Given the description of an element on the screen output the (x, y) to click on. 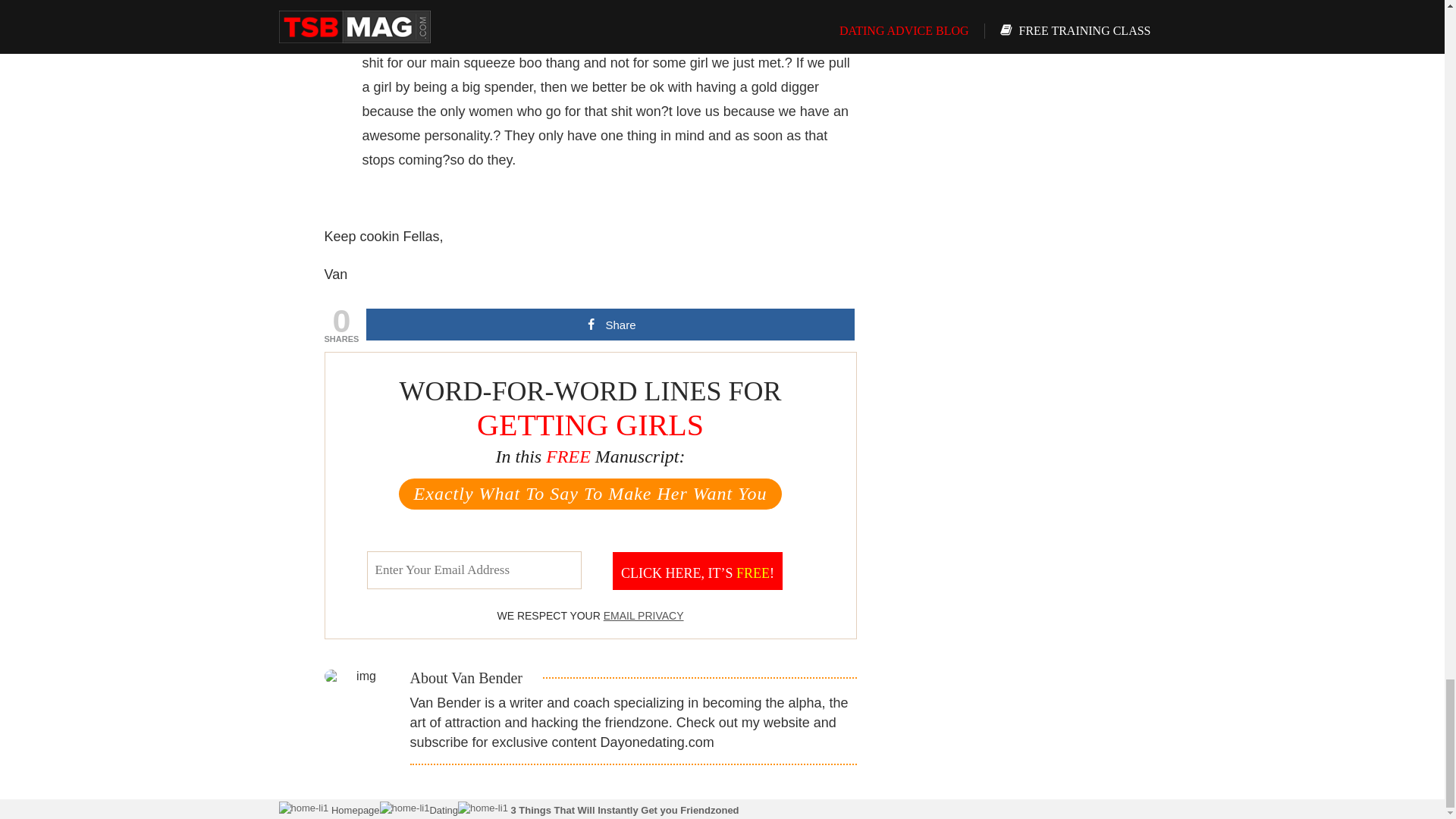
3 Things That Will Instantly Get you Friendzoned (623, 809)
Homepage (353, 809)
Dating (443, 809)
EMAIL PRIVACY (644, 615)
Share (609, 324)
Homepage (353, 809)
